Given the description of an element on the screen output the (x, y) to click on. 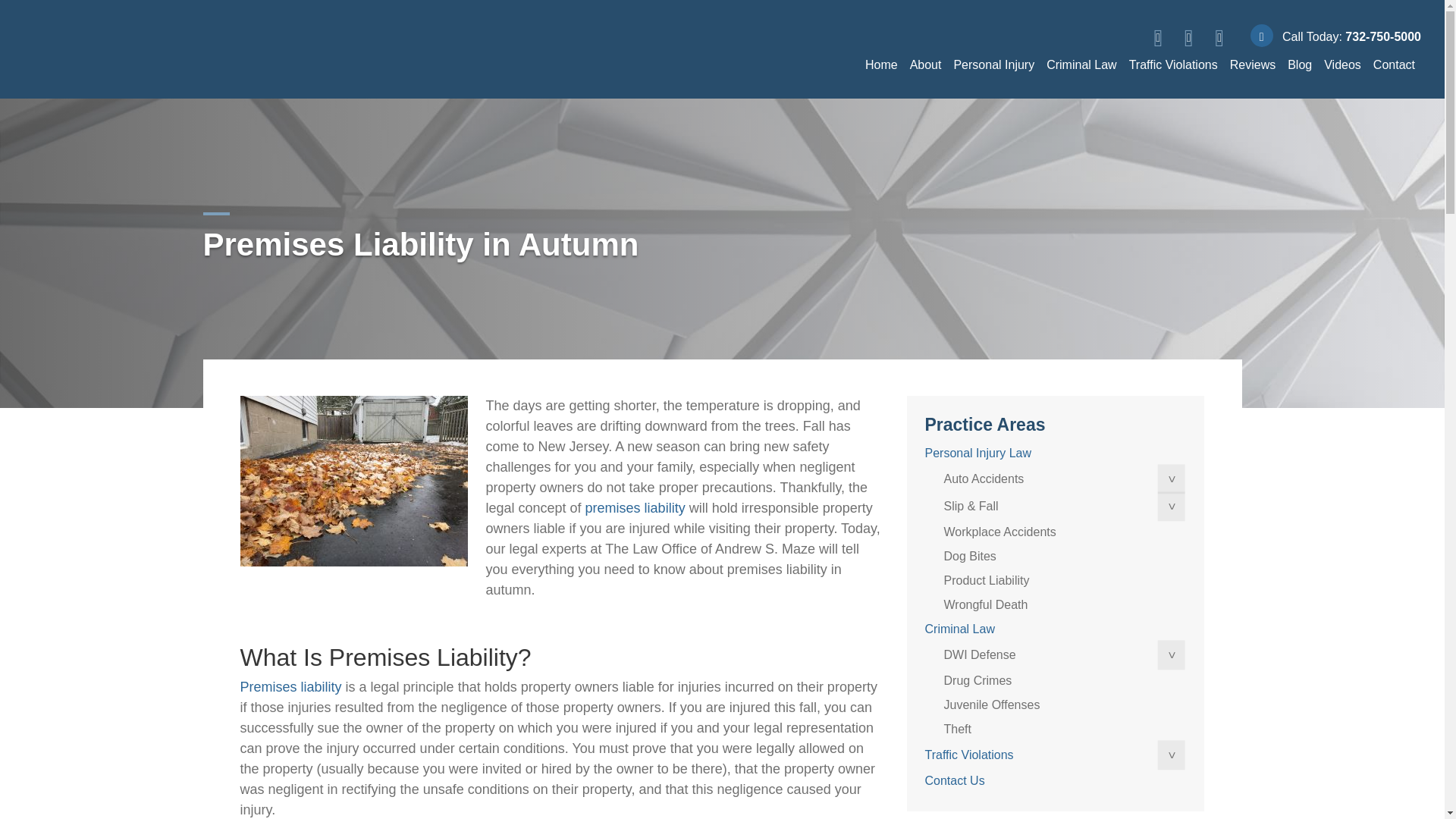
About (925, 64)
732-750-5000 (1383, 36)
Home (881, 64)
Criminal Law (1081, 64)
Personal Injury (994, 64)
